Given the description of an element on the screen output the (x, y) to click on. 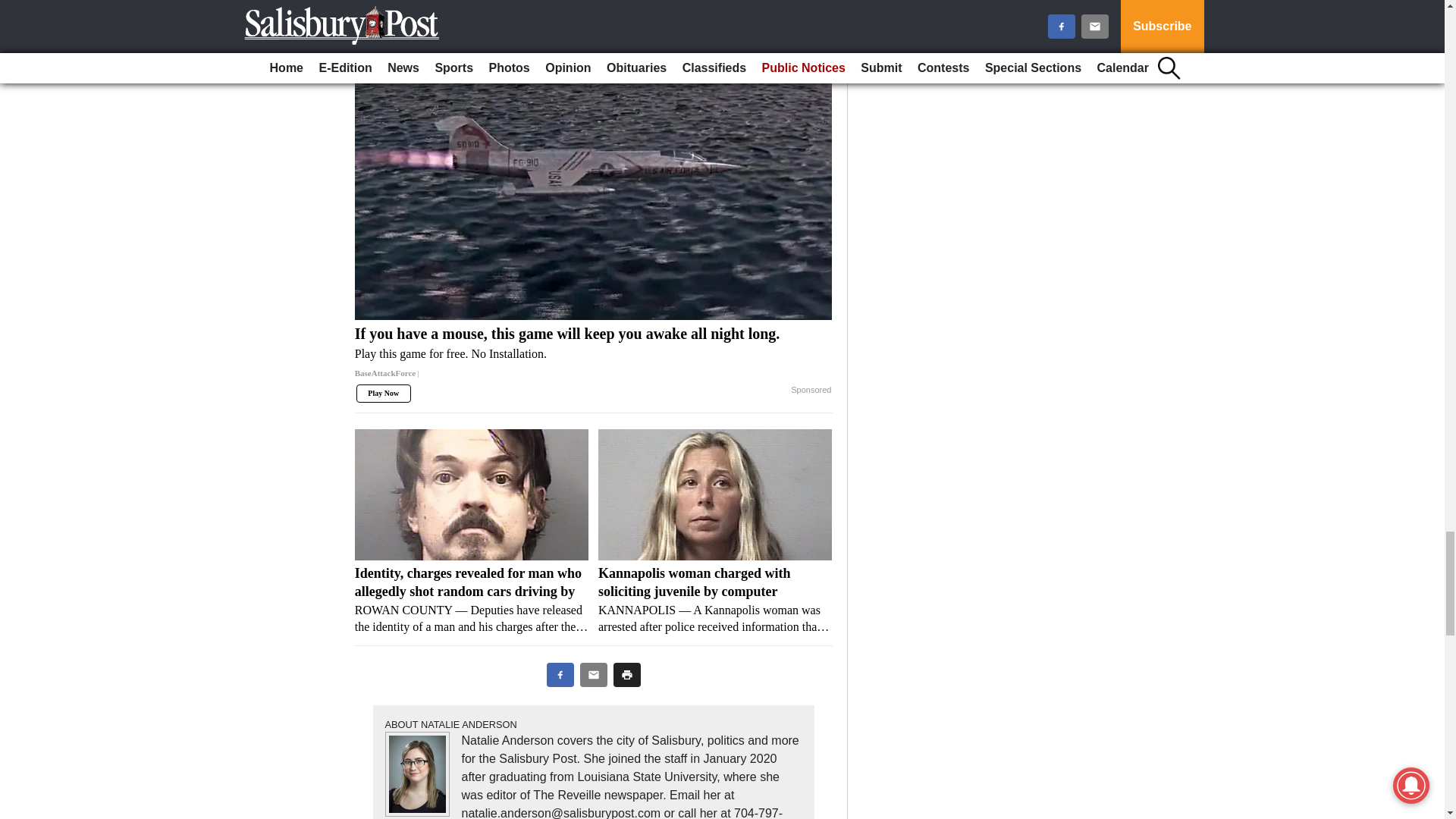
Fascinating Vintage Photos (714, 8)
